Given the description of an element on the screen output the (x, y) to click on. 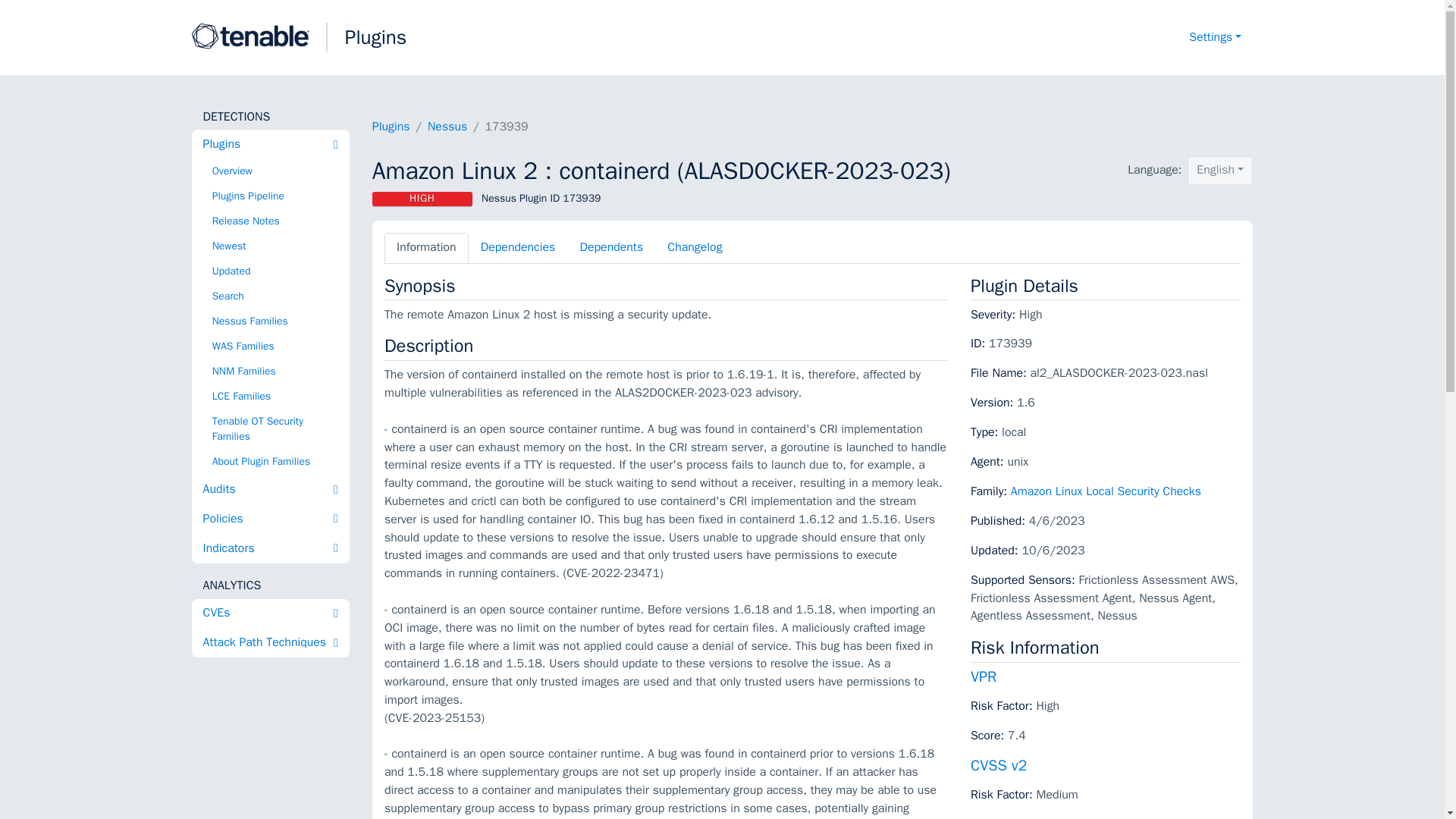
Settings (1214, 37)
Plugins (376, 37)
